Given the description of an element on the screen output the (x, y) to click on. 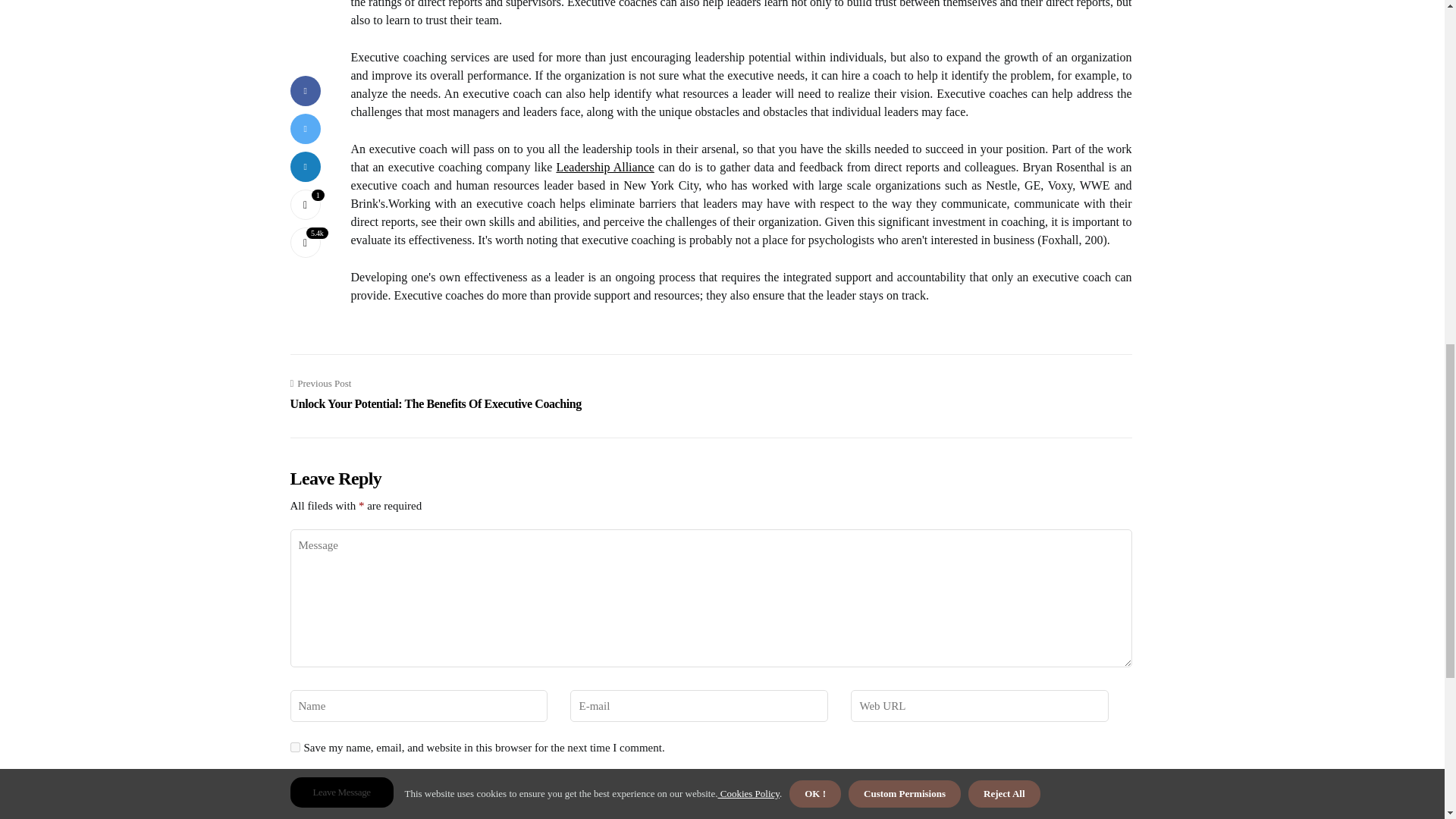
Leave Message (341, 792)
Leave Message (341, 792)
Leadership Alliance (604, 166)
yes (294, 747)
